Given the description of an element on the screen output the (x, y) to click on. 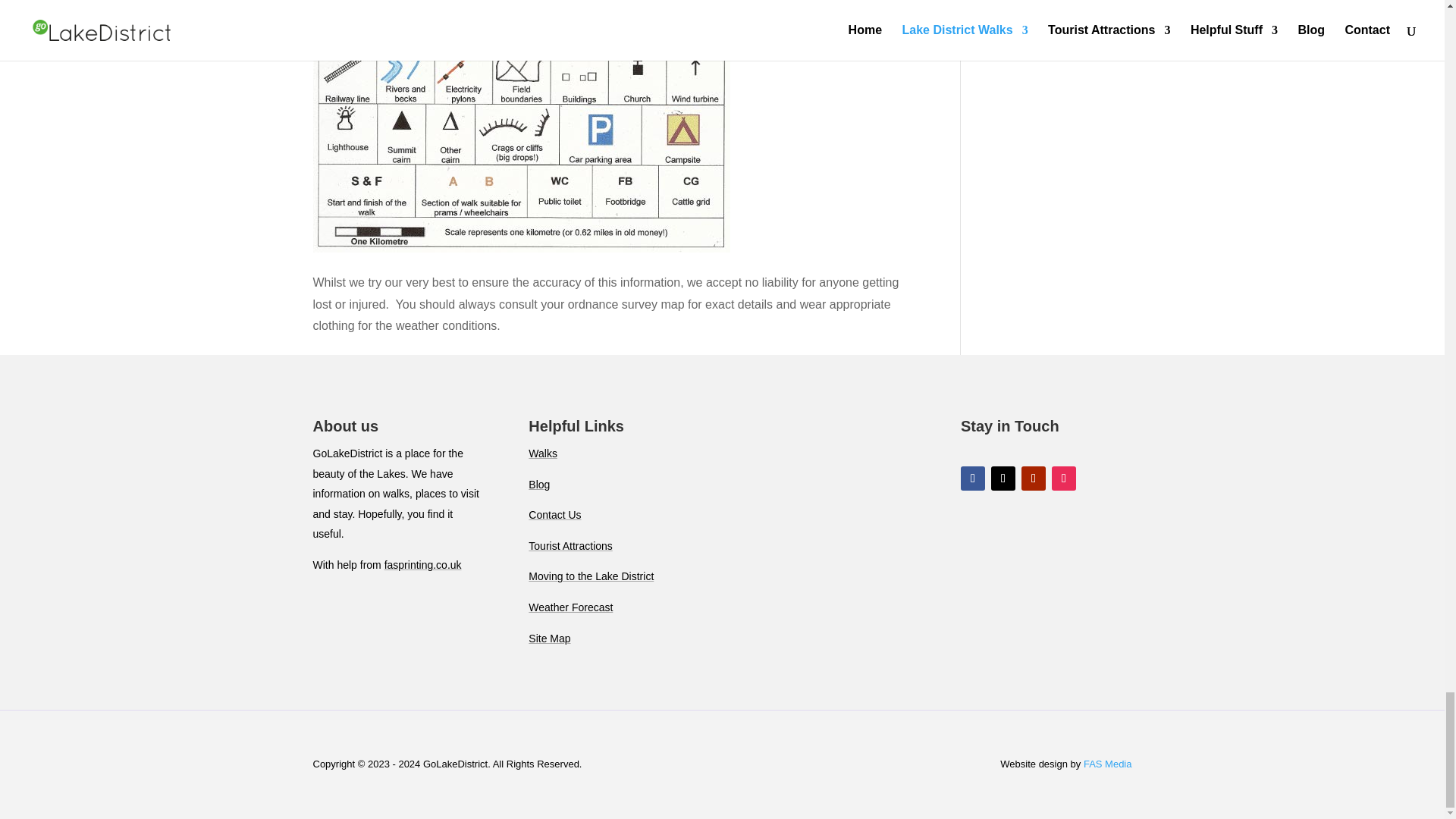
Signs used in the maps (521, 126)
